Given the description of an element on the screen output the (x, y) to click on. 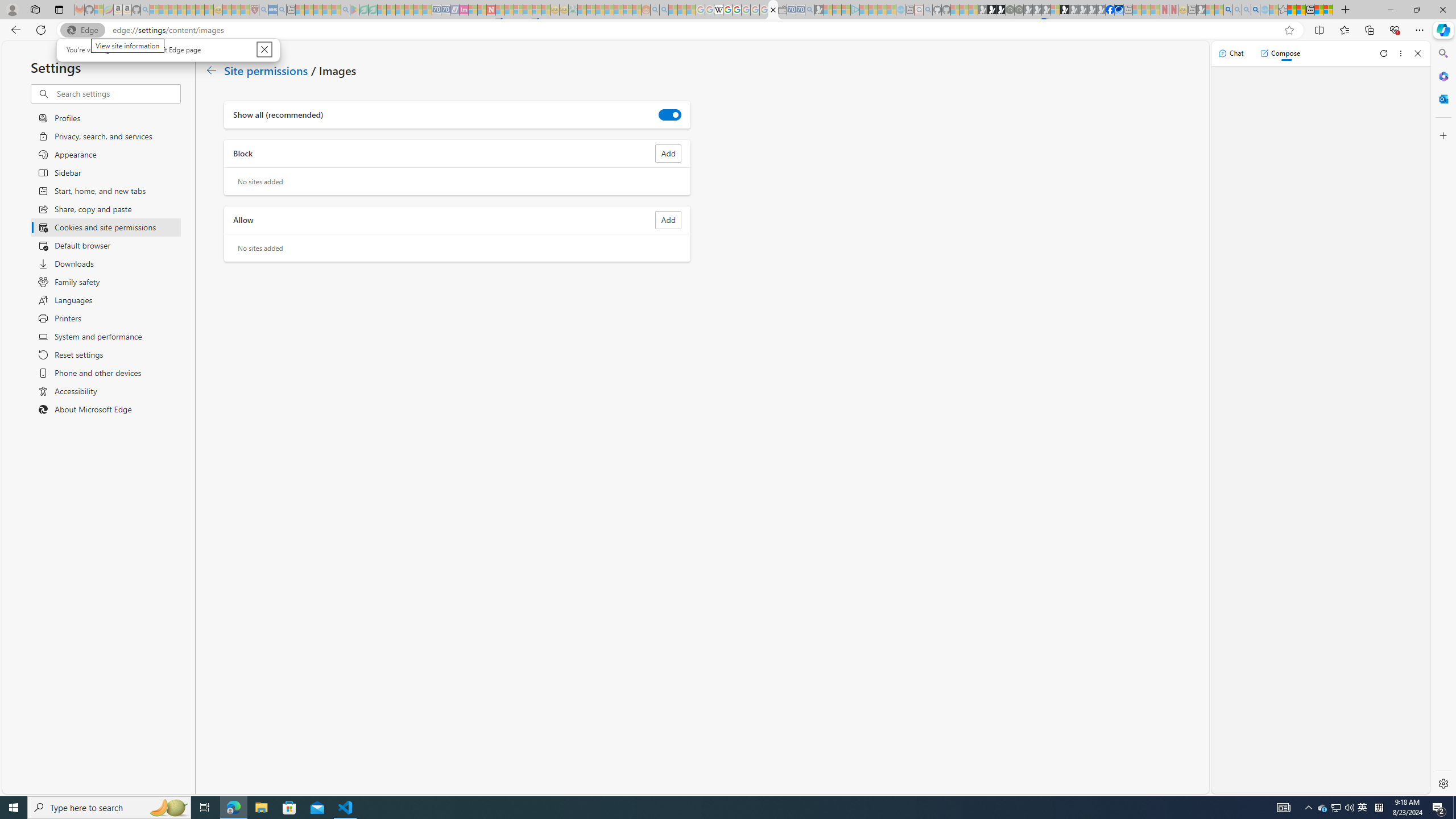
Sign in to your account - Sleeping (1054, 9)
Tray Input Indicator - Chinese (Simplified, China) (1378, 807)
Show all (recommended) (669, 114)
Microsoft Edge - 1 running window (233, 807)
Start (1322, 807)
Privacy Help Center - Policies Help (13, 807)
AQI & Health | AirNow.gov (726, 9)
